Given the description of an element on the screen output the (x, y) to click on. 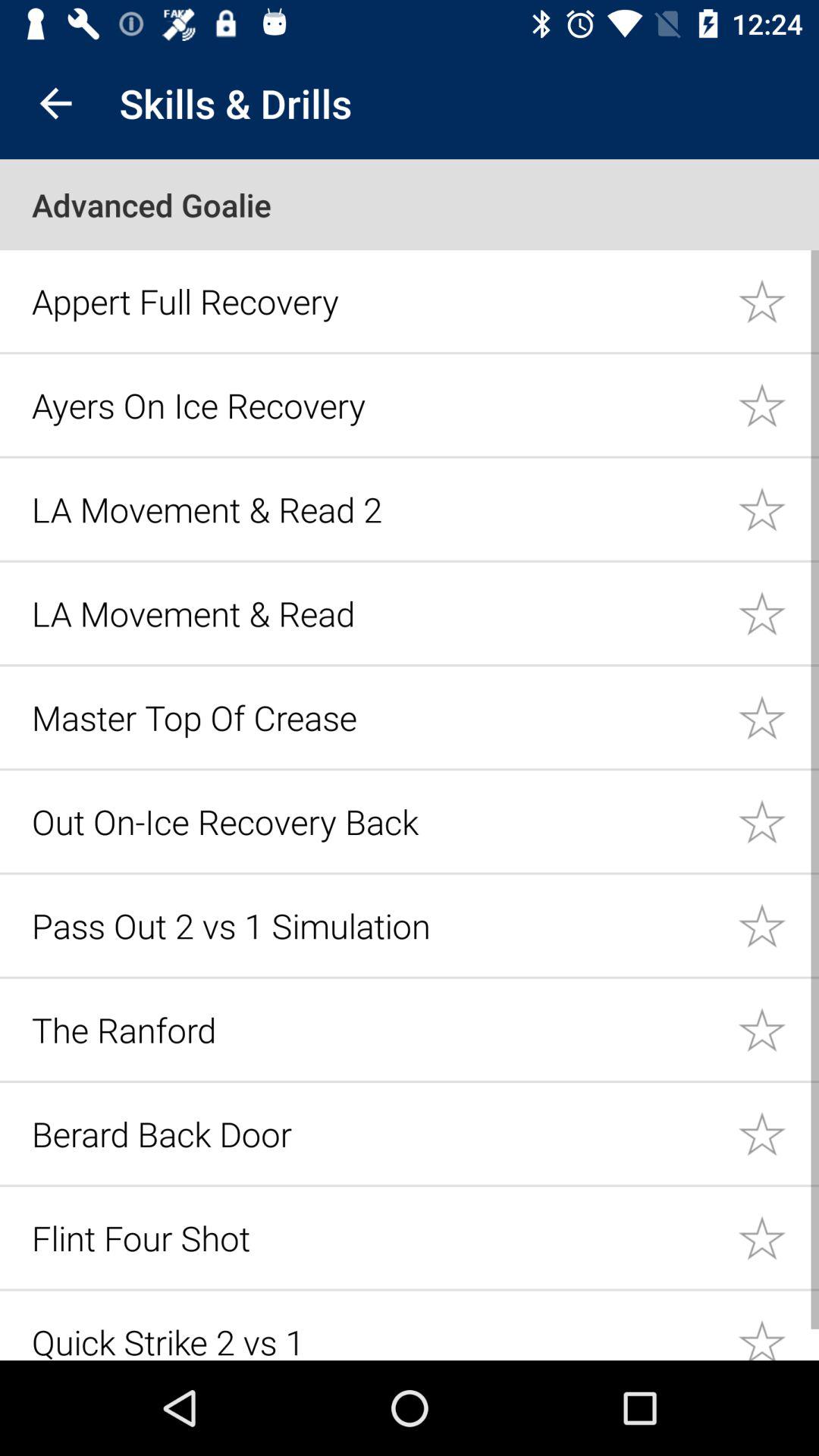
click icon above the ranford (376, 925)
